Given the description of an element on the screen output the (x, y) to click on. 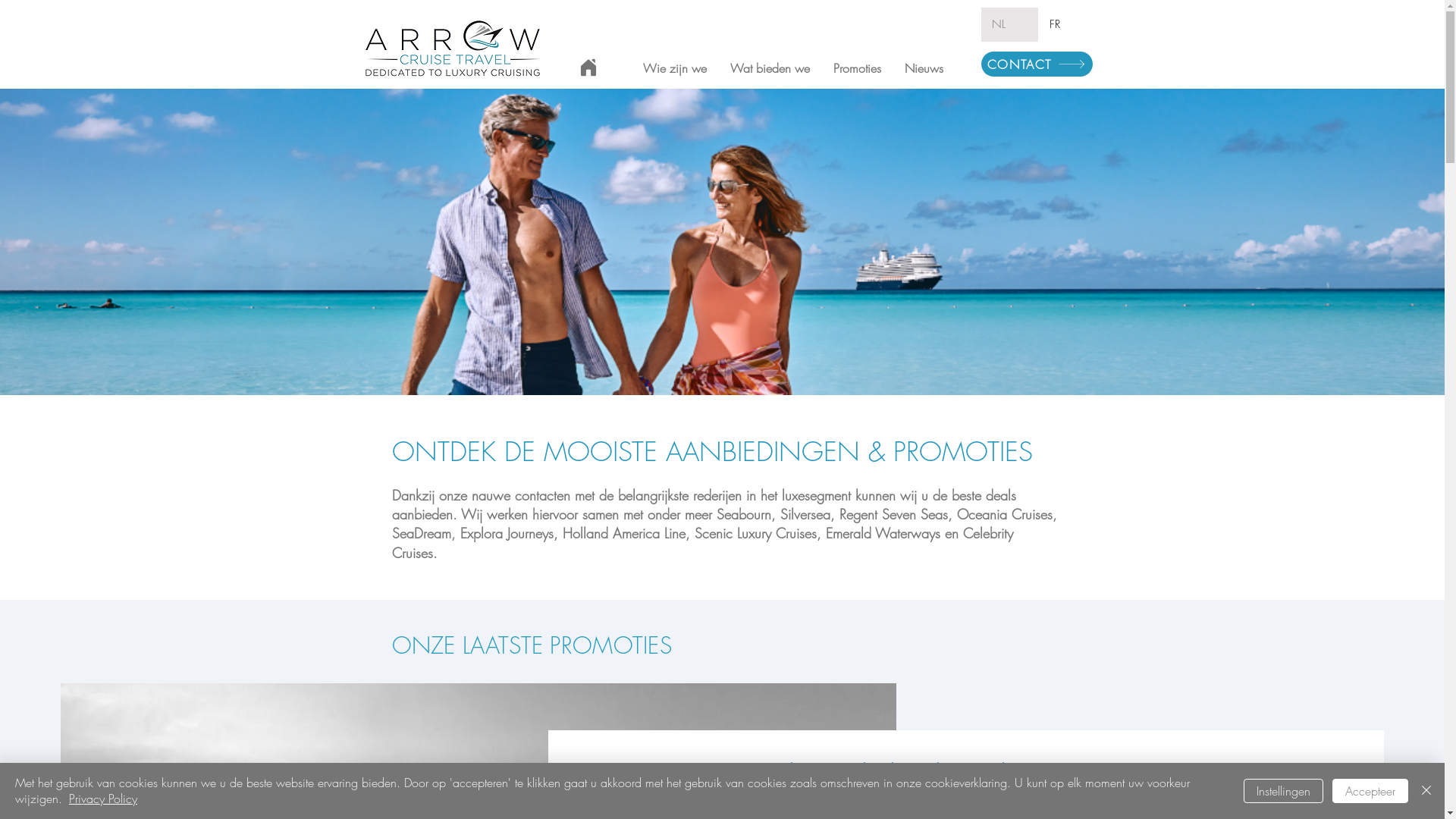
Accepteer Element type: text (1370, 790)
Privacy Policy Element type: text (103, 798)
CONTACT Element type: text (1036, 63)
NL Element type: text (1009, 24)
FR Element type: text (1064, 24)
Instellingen Element type: text (1283, 790)
